Given the description of an element on the screen output the (x, y) to click on. 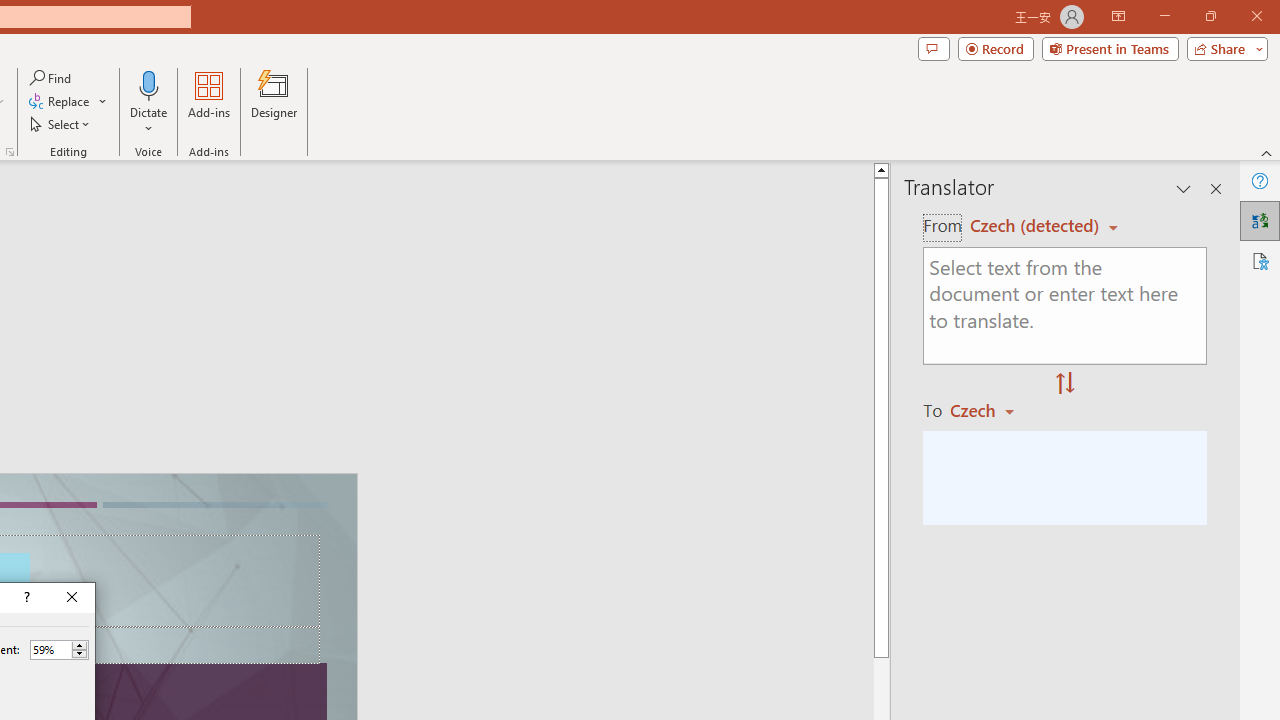
Czech (991, 409)
Percent (50, 649)
